Given the description of an element on the screen output the (x, y) to click on. 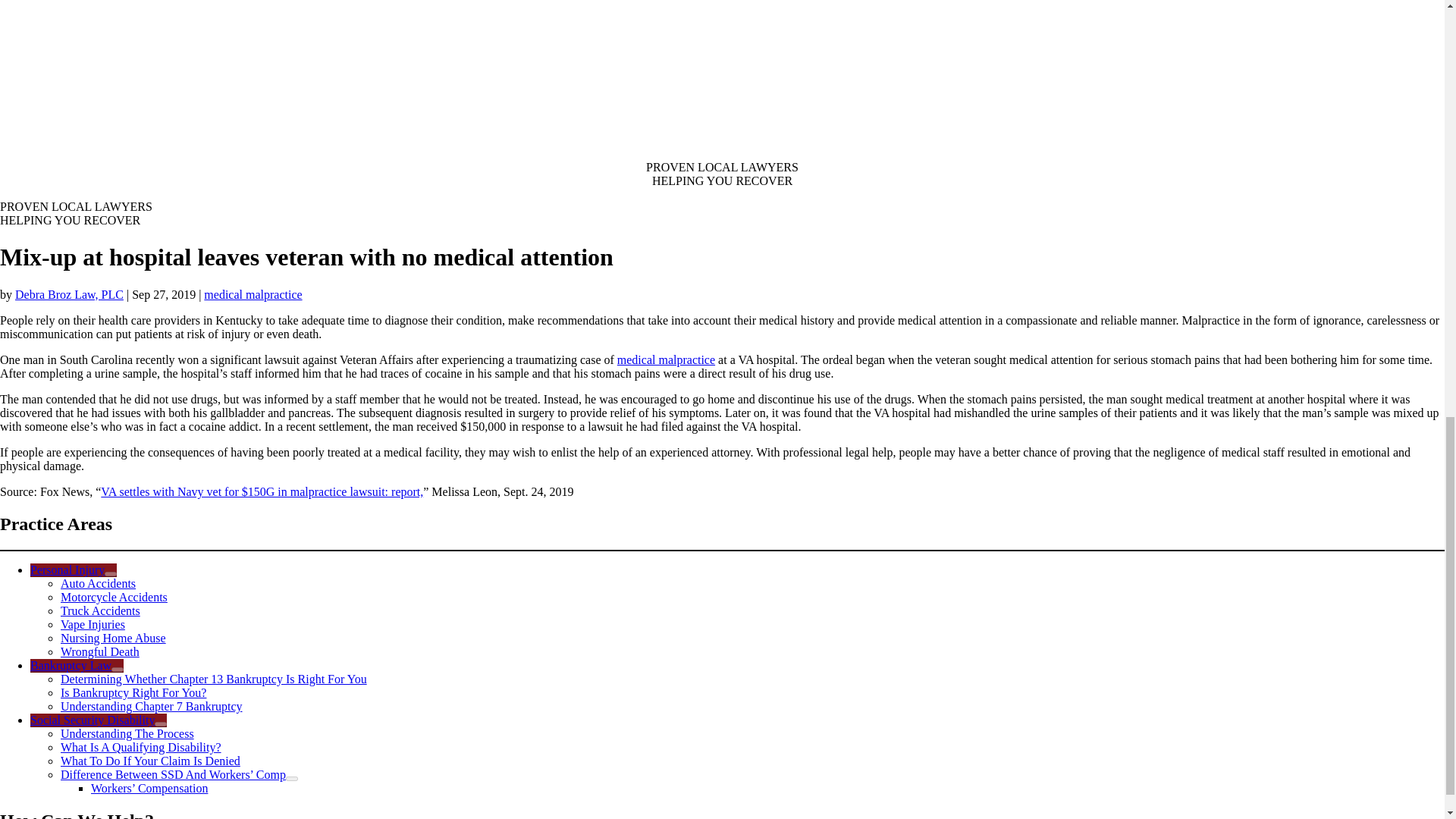
Personal Injury (73, 570)
Motorcycle Accidents (114, 596)
Debra Broz Law, PLC (68, 294)
Auto Accidents (98, 583)
debra-internal-banner (331, 72)
Posts by Debra Broz Law, PLC (68, 294)
medical malpractice (252, 294)
Truck Accidents (100, 610)
medical malpractice (665, 359)
